Given the description of an element on the screen output the (x, y) to click on. 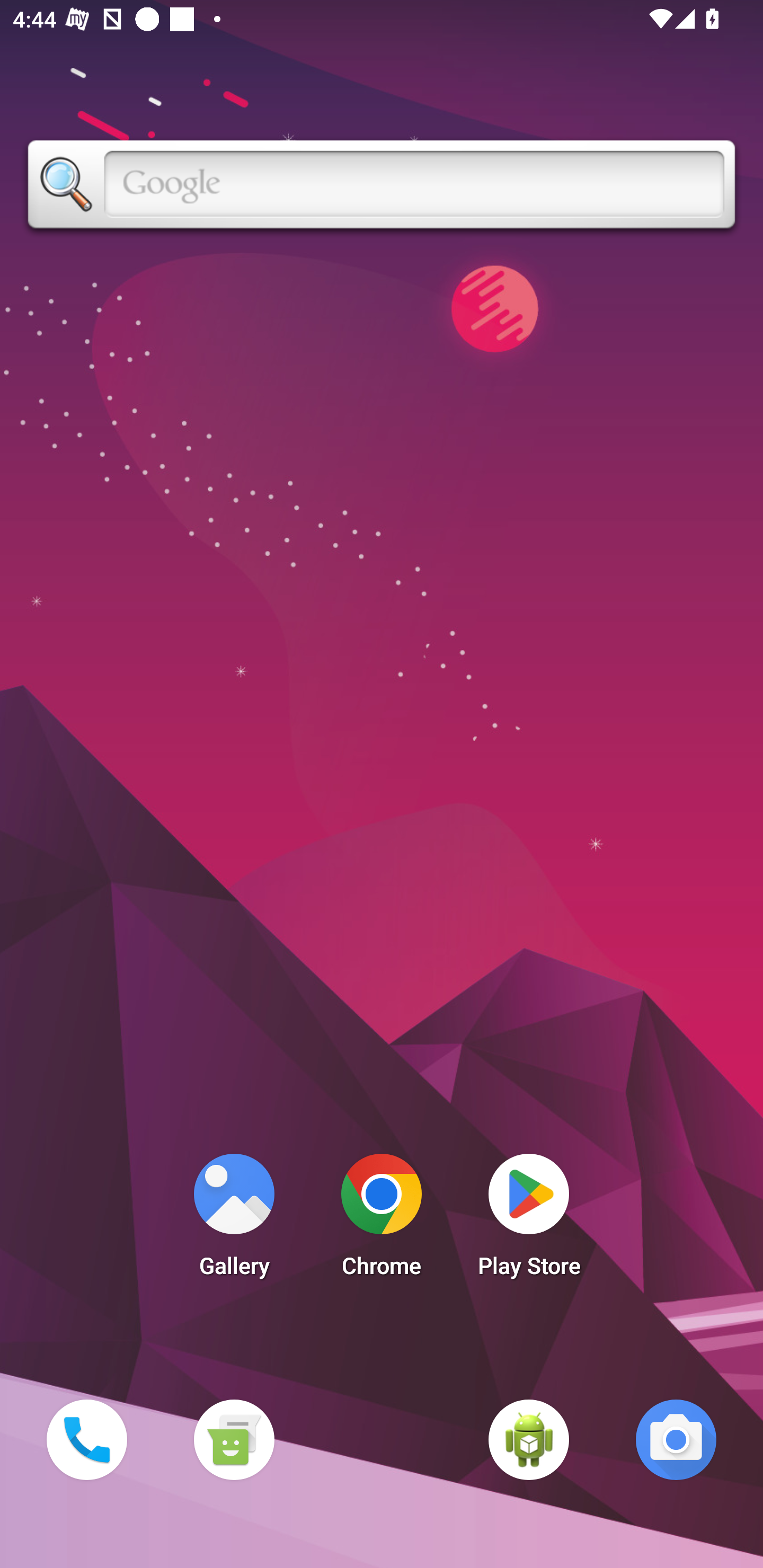
Gallery (233, 1220)
Chrome (381, 1220)
Play Store (528, 1220)
Phone (86, 1439)
Messaging (233, 1439)
WebView Browser Tester (528, 1439)
Camera (676, 1439)
